Given the description of an element on the screen output the (x, y) to click on. 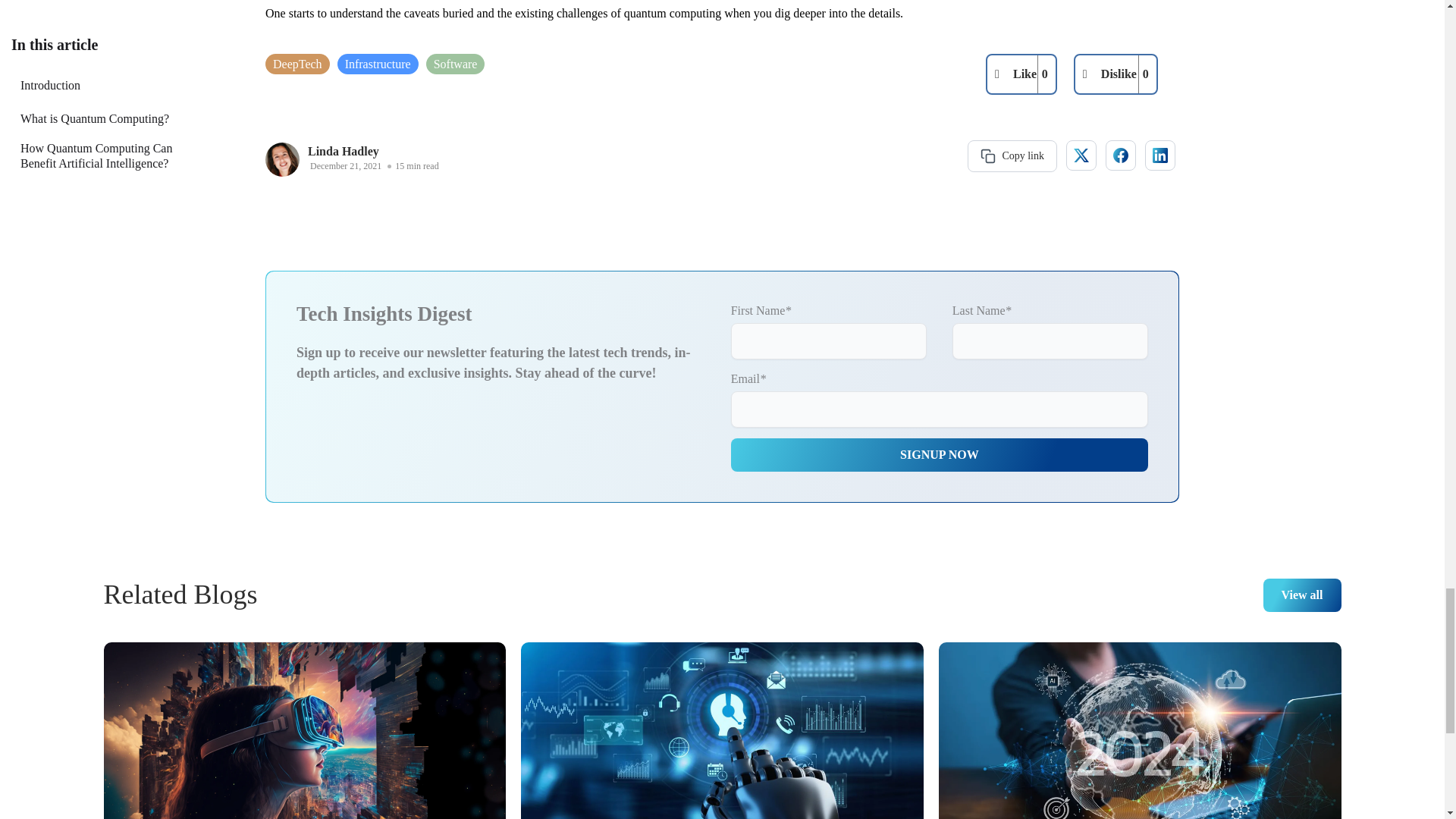
SIGNUP NOW (939, 454)
